Given the description of an element on the screen output the (x, y) to click on. 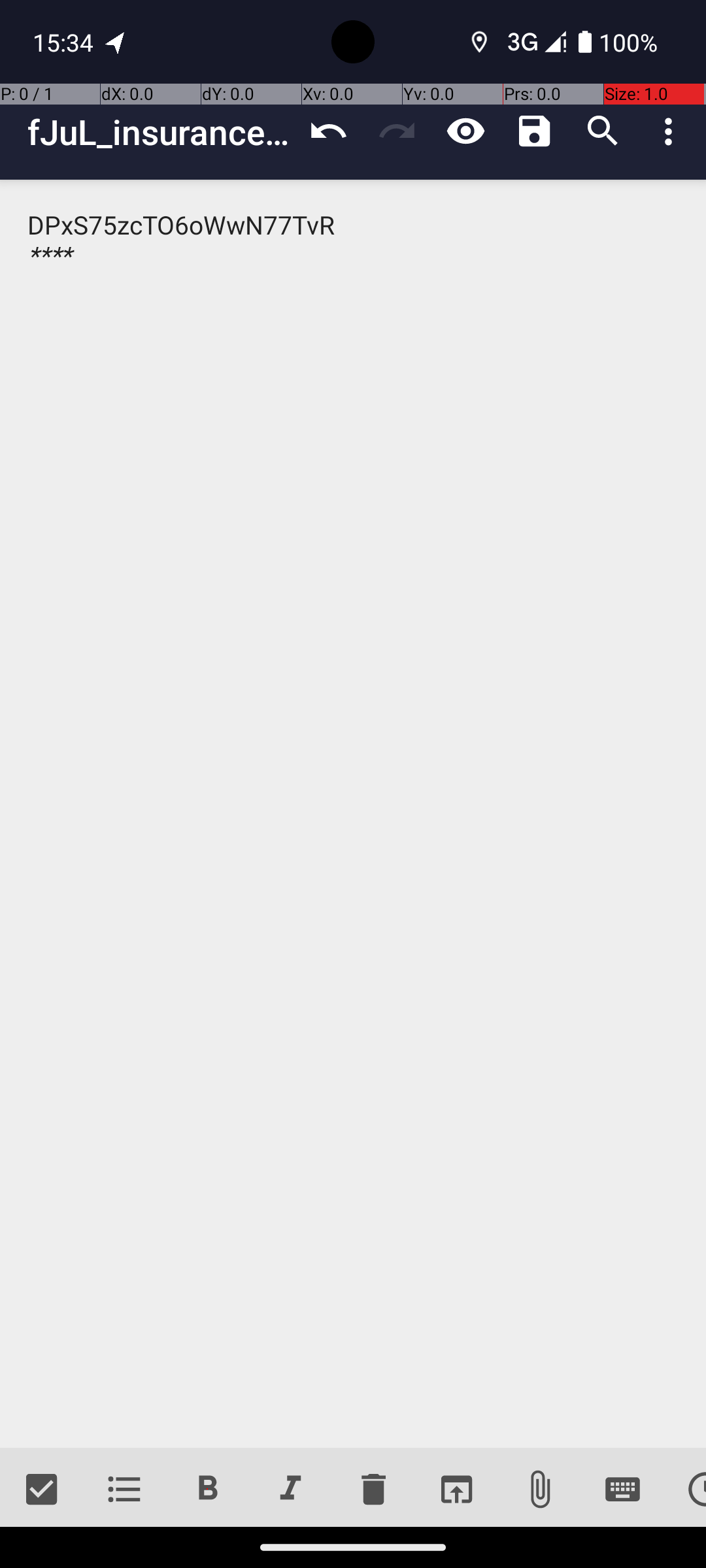
fJuL_insurance_plan_comparison Element type: android.widget.TextView (160, 131)
DPxS75zcTO6oWwN77TvR
**** Element type: android.widget.EditText (353, 813)
